Given the description of an element on the screen output the (x, y) to click on. 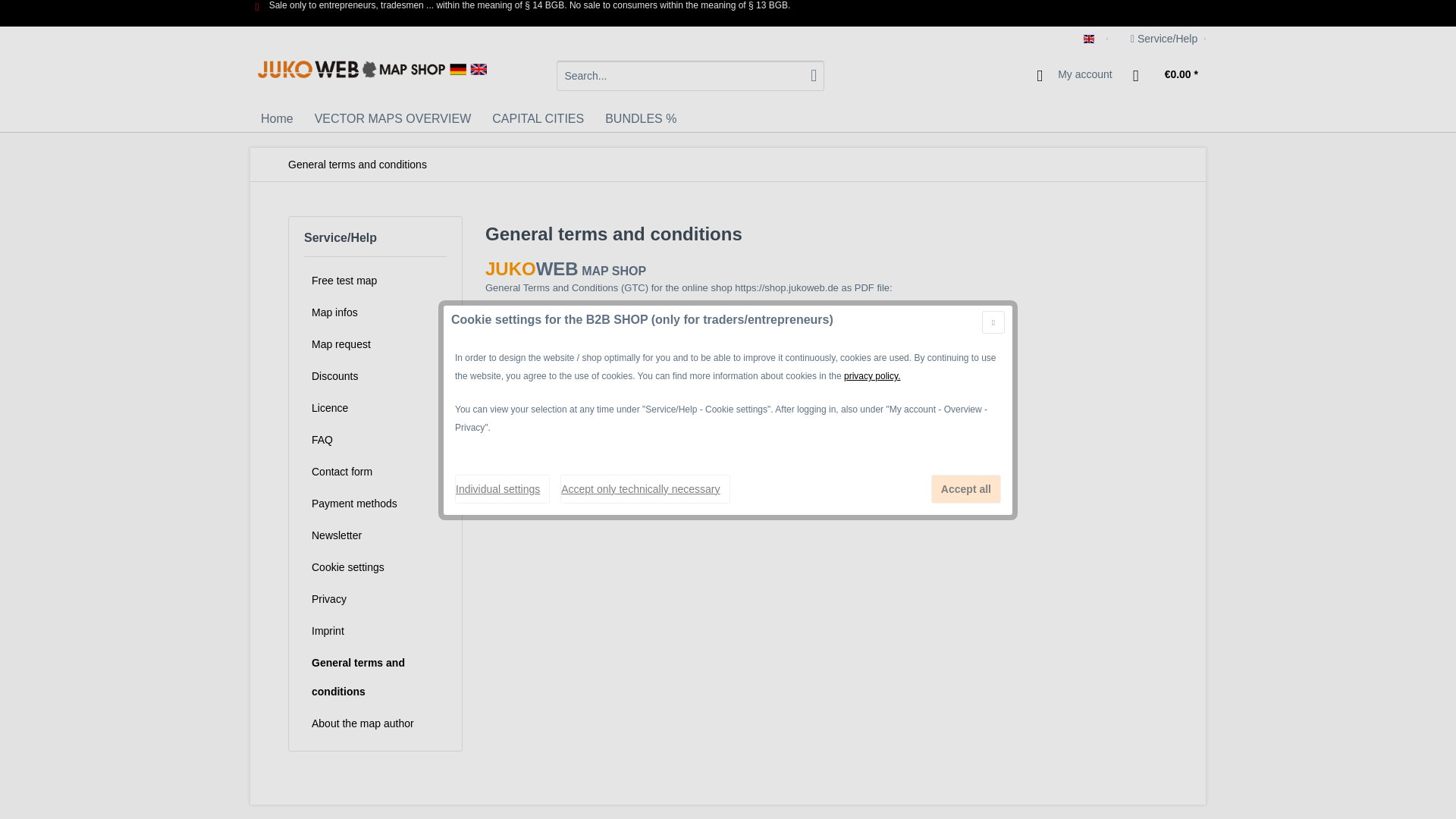
JUKOWEB MAP SHOP ENGLISH - Switch to homepage (371, 79)
VECTOR MAPS OVERVIEW (392, 118)
CAPITAL CITIES (537, 118)
CAPITAL CITIES (537, 118)
General terms and conditions (357, 164)
My account (1074, 75)
VECTOR MAPS OVERVIEW (392, 118)
Home (277, 118)
Home (277, 118)
My account (1074, 75)
